Given the description of an element on the screen output the (x, y) to click on. 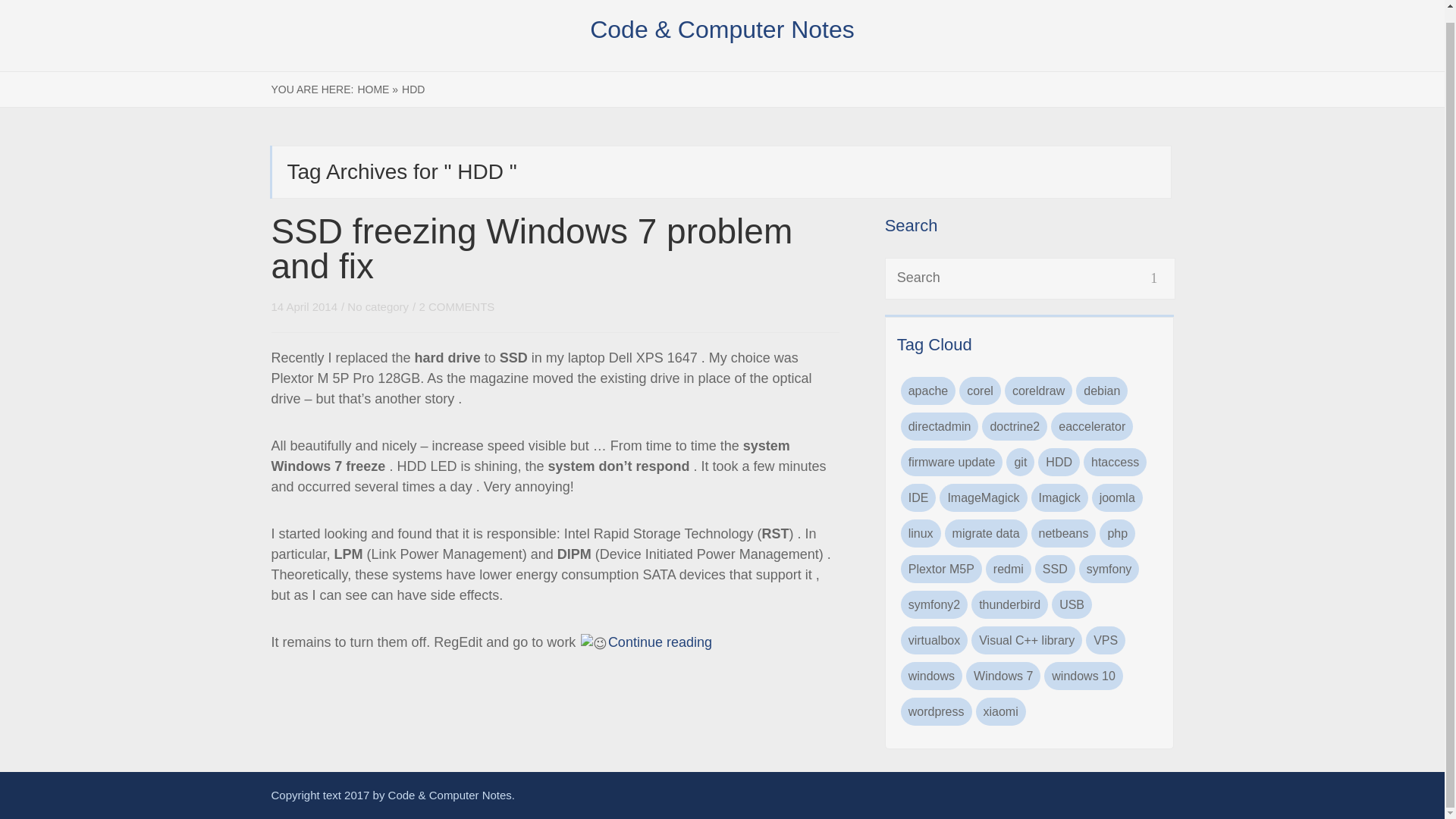
No category (378, 306)
migrate data (985, 533)
Continue reading (659, 642)
linux (920, 533)
Plextor M5P (941, 569)
debian (1100, 390)
ImageMagick (982, 497)
virtualbox (934, 640)
USB (1071, 604)
IDE (918, 497)
coreldraw (1037, 390)
doctrine2 (1013, 426)
joomla (1117, 497)
thunderbird (1009, 604)
php (1117, 533)
